Given the description of an element on the screen output the (x, y) to click on. 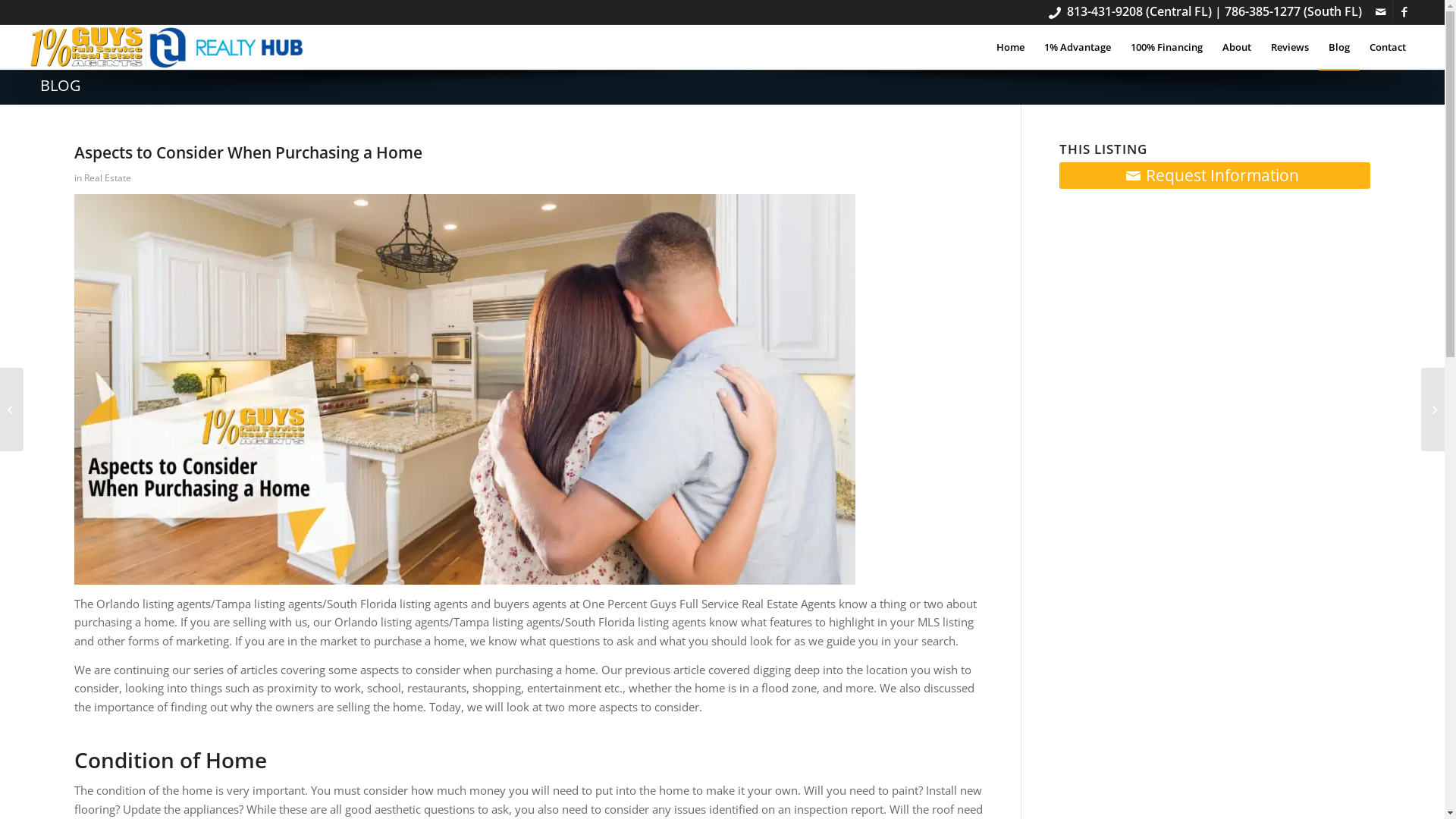
About Element type: text (1236, 46)
1% Advantage Element type: text (1077, 46)
Contact Element type: text (1387, 46)
Reviews Element type: text (1289, 46)
Real Estate Element type: text (107, 177)
Blog Element type: text (1338, 46)
Request Information Element type: text (1215, 175)
100% Financing Element type: text (1166, 46)
Home Element type: text (1010, 46)
BLOG Element type: text (60, 85)
Mail Element type: hover (1381, 11)
Facebook Element type: hover (1404, 11)
